Given the description of an element on the screen output the (x, y) to click on. 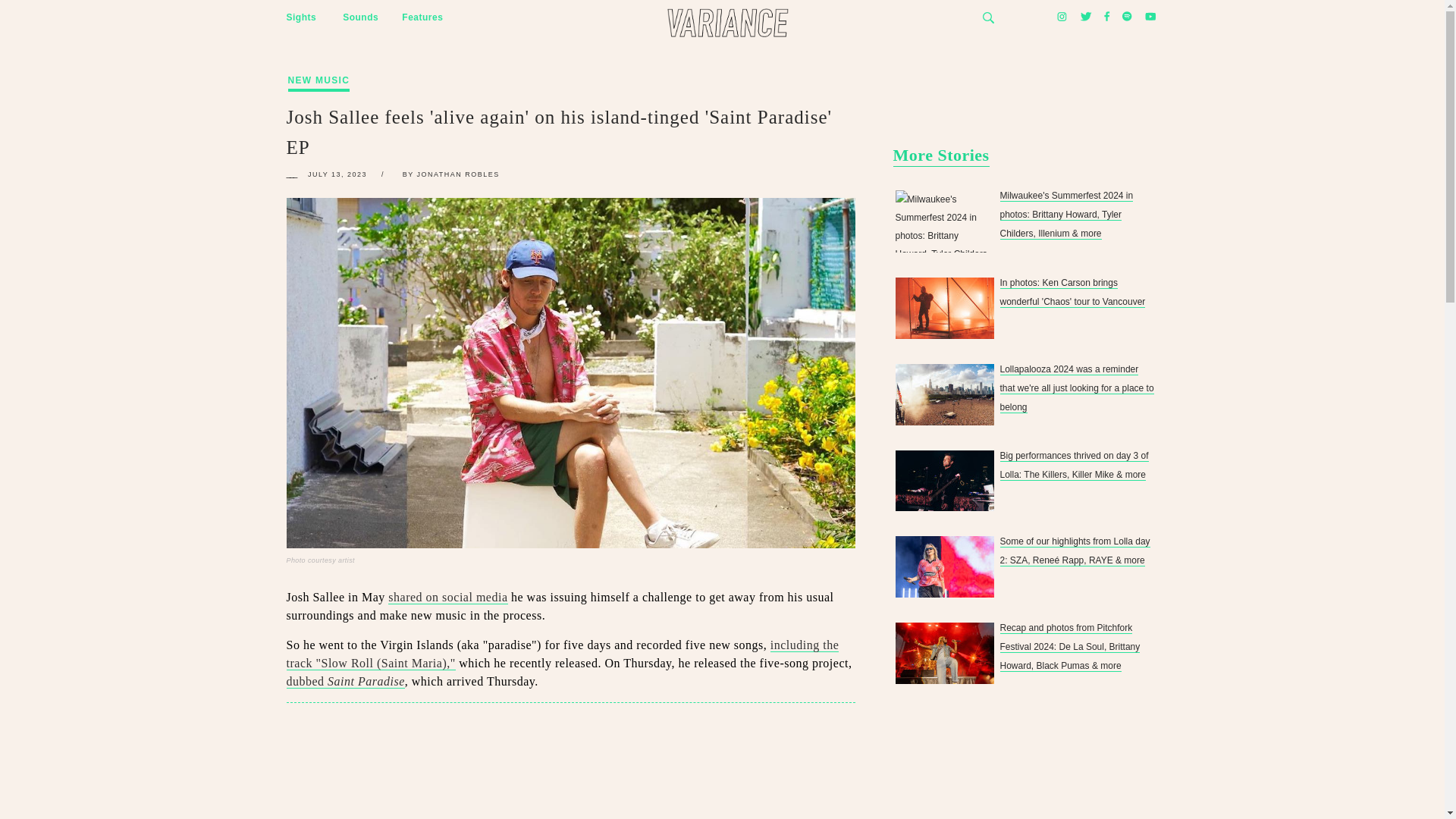
NEW MUSIC (319, 64)
Sights (301, 18)
Features (421, 18)
shared on social media (447, 597)
Sounds (360, 18)
